Given the description of an element on the screen output the (x, y) to click on. 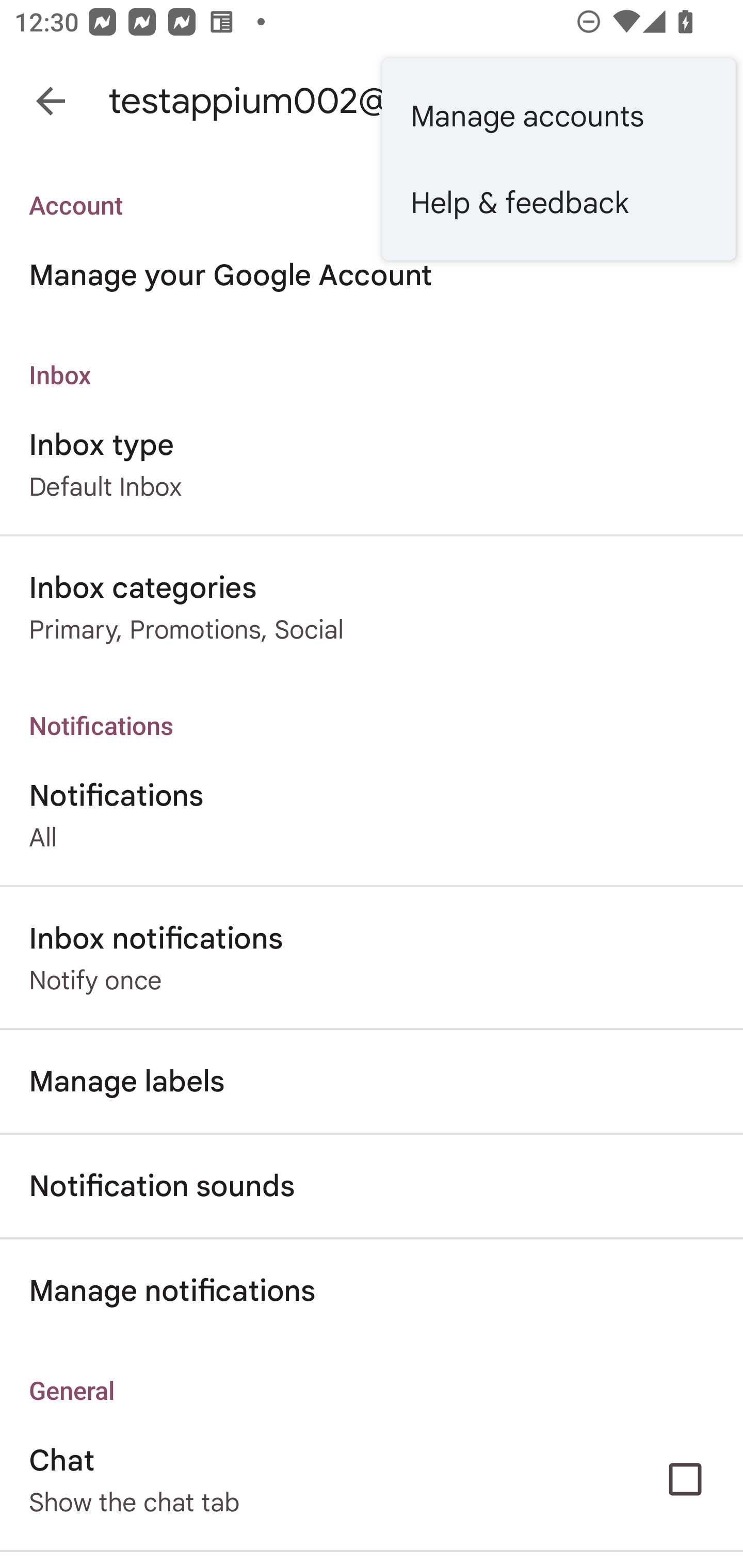
Manage accounts (558, 115)
Help & feedback (558, 202)
